Given the description of an element on the screen output the (x, y) to click on. 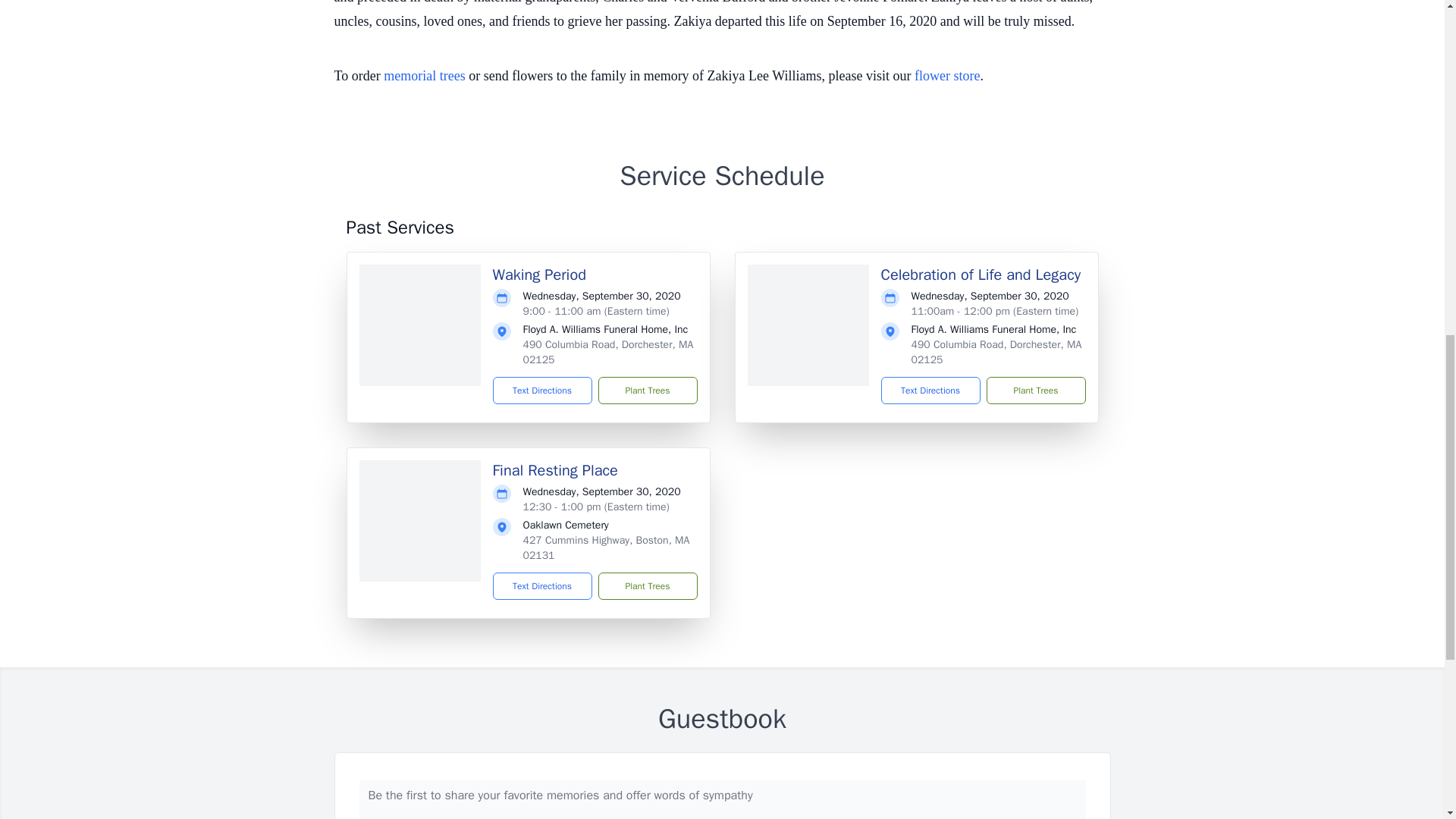
memorial trees (424, 75)
427 Cummins Highway, Boston, MA 02131 (606, 547)
Plant Trees (646, 390)
Plant Trees (646, 585)
Plant Trees (1034, 390)
Text Directions (929, 390)
490 Columbia Road, Dorchester, MA 02125 (996, 352)
Text Directions (542, 390)
flower store (946, 75)
Text Directions (542, 585)
